Given the description of an element on the screen output the (x, y) to click on. 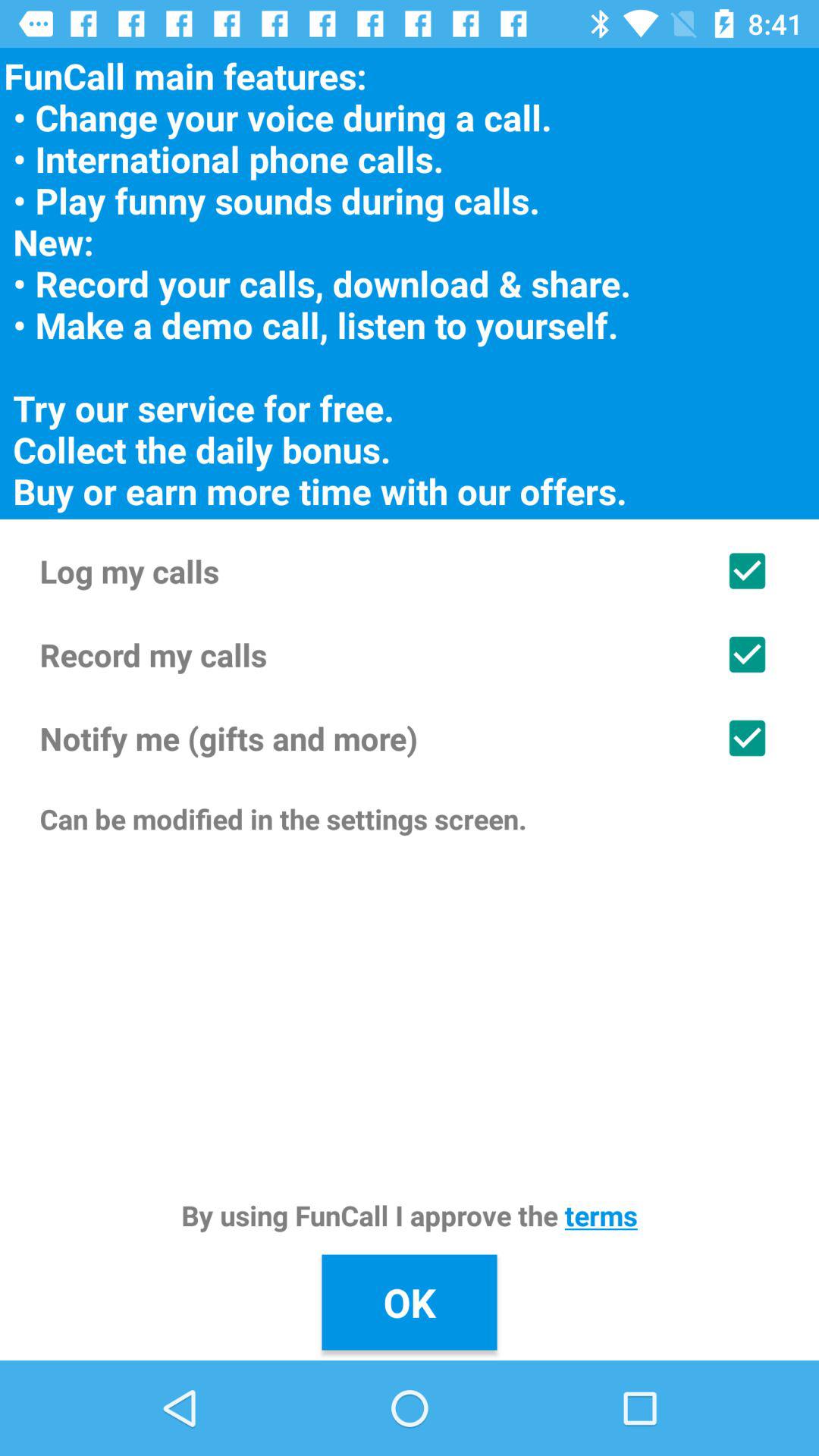
choose by using funcall button (409, 1215)
